Given the description of an element on the screen output the (x, y) to click on. 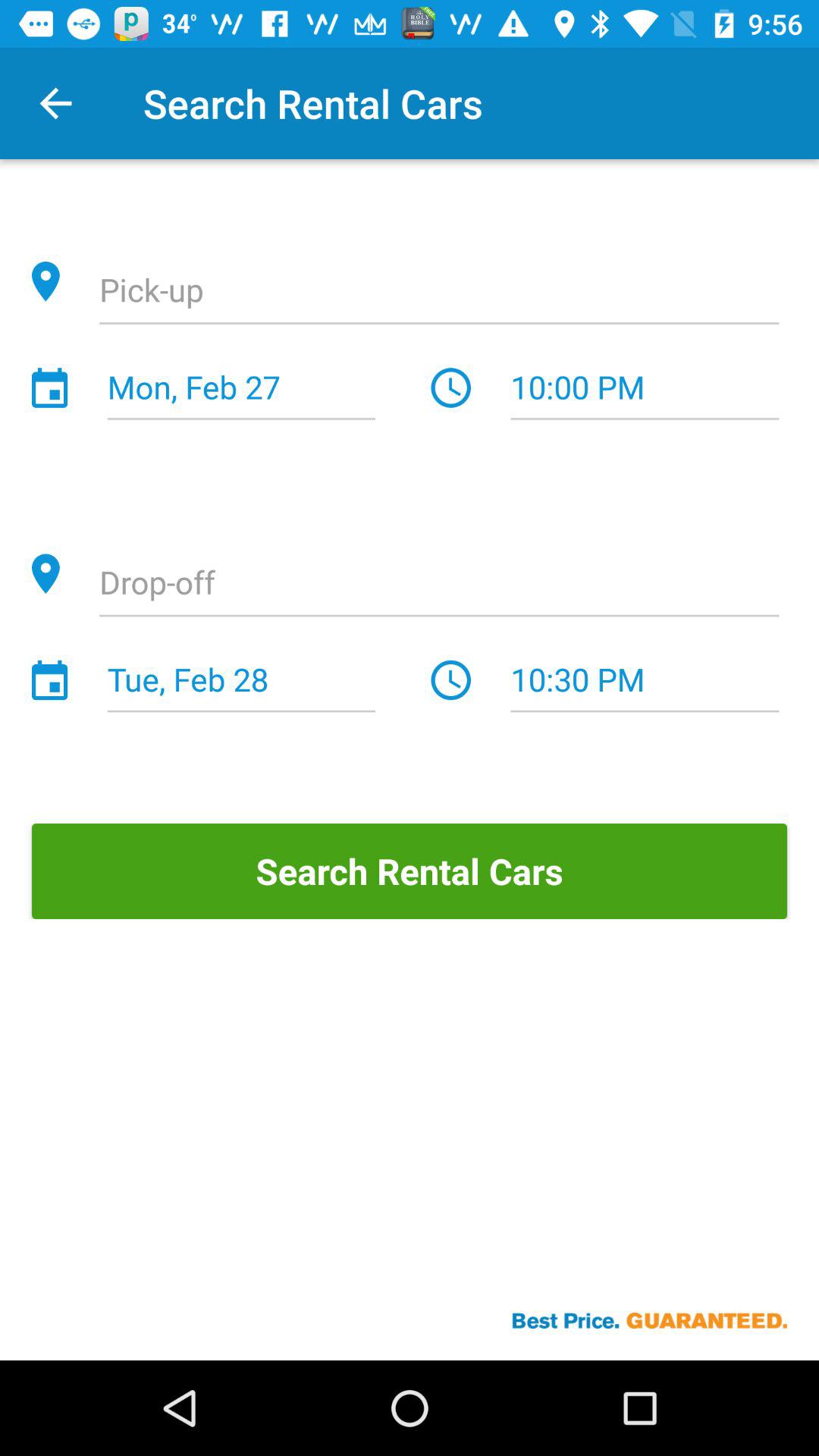
pick where to drop it off (439, 584)
